Given the description of an element on the screen output the (x, y) to click on. 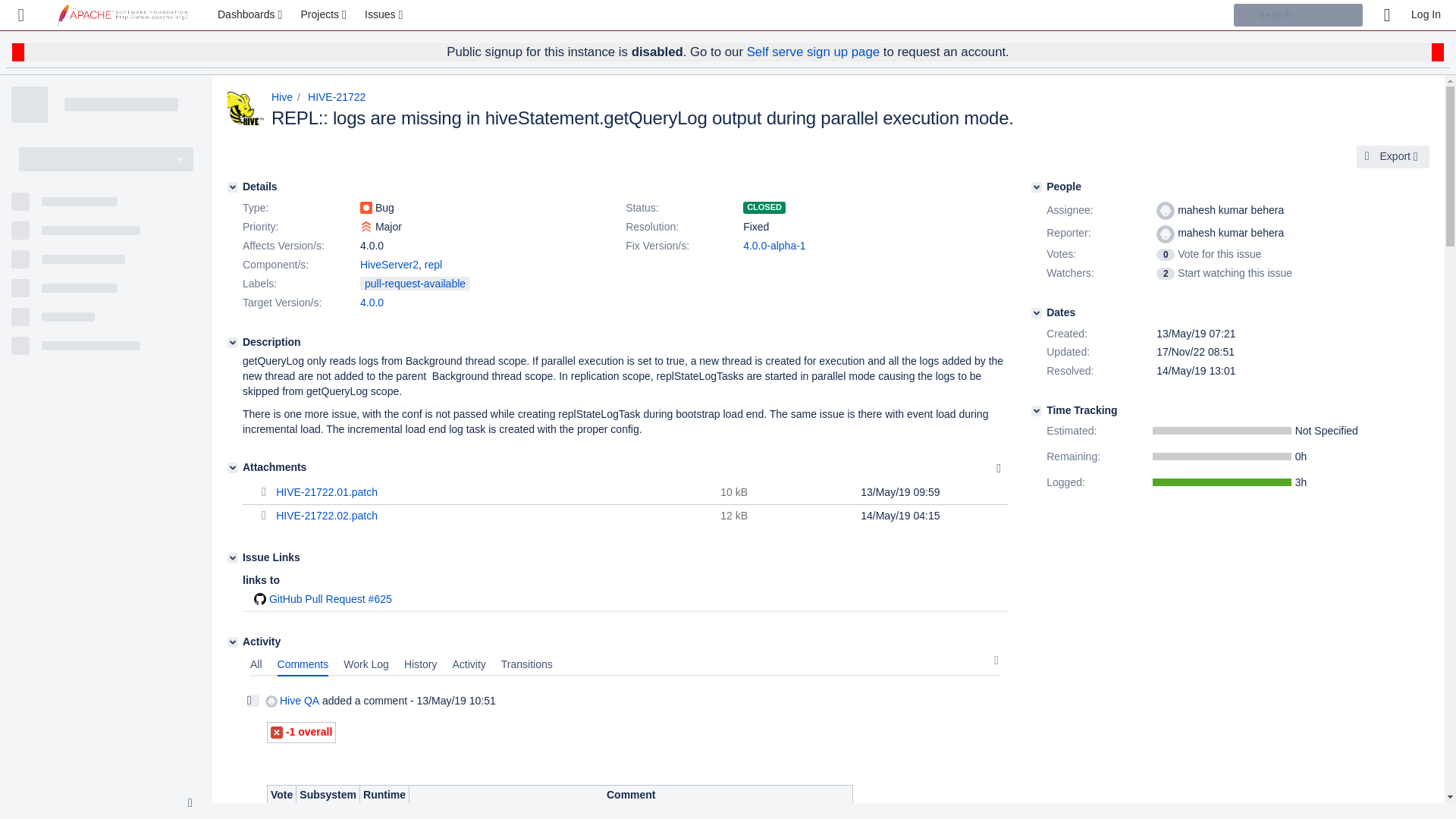
4.0.0-alpha-1 (774, 245)
Help (1386, 15)
Type (299, 208)
Help (1386, 15)
HIVE-21722 (336, 96)
HiveServer2 (389, 264)
Search for issues and view recent issues (384, 15)
View and manage your dashboards (251, 15)
View recent projects and browse a list of projects (324, 15)
Hive (281, 96)
Self serve sign up page (812, 51)
Dashboards (251, 15)
4.0.0 (371, 302)
repl (433, 264)
Projects (324, 15)
